Given the description of an element on the screen output the (x, y) to click on. 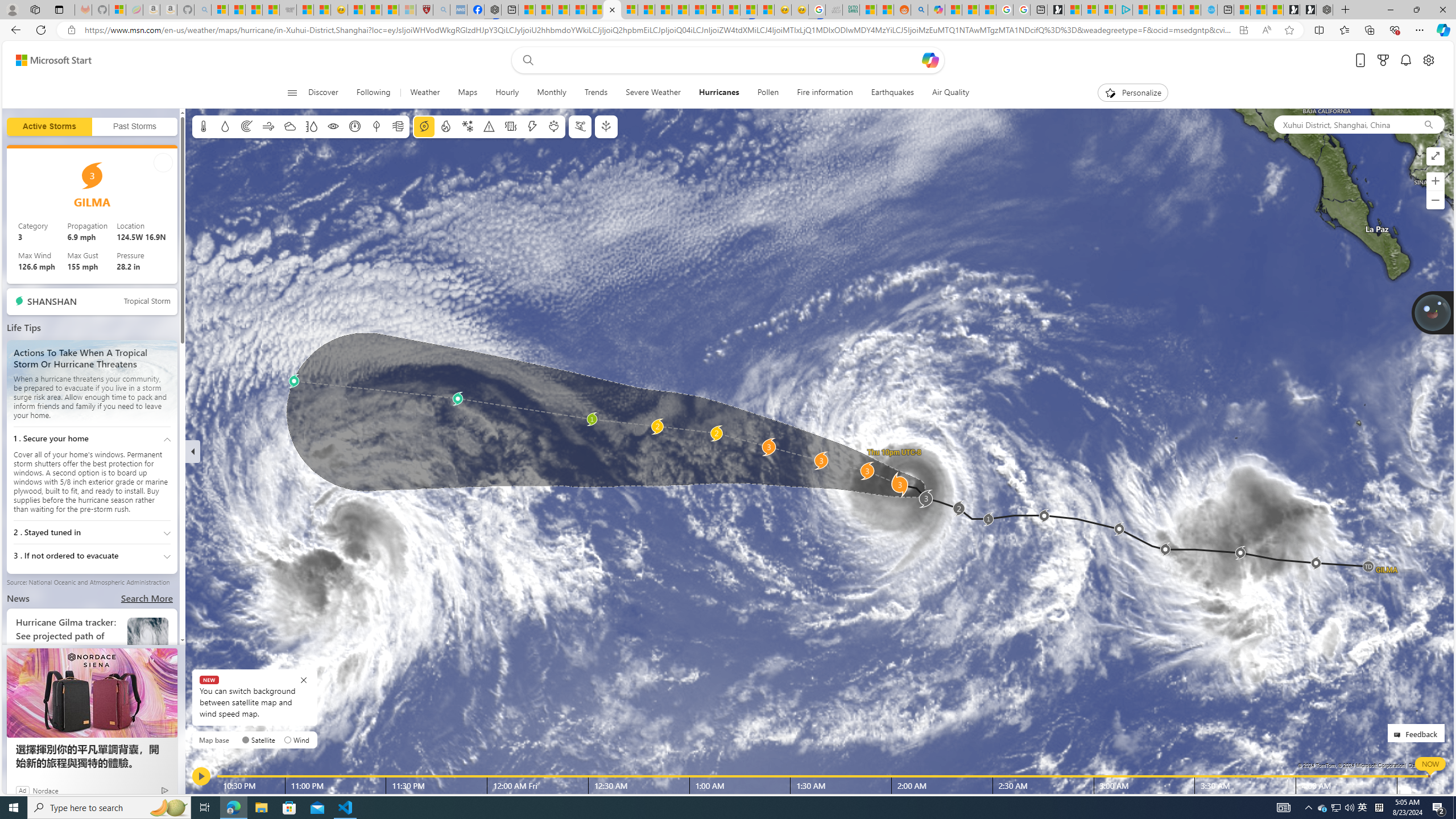
Wind (267, 126)
Pollen (767, 92)
Winter weather (467, 126)
AutomationID: radioButton-DS-EntryPoint1-1-layer-subtype-0-0 (244, 739)
Xuhui District, Shanghai, China (1342, 124)
